Given the description of an element on the screen output the (x, y) to click on. 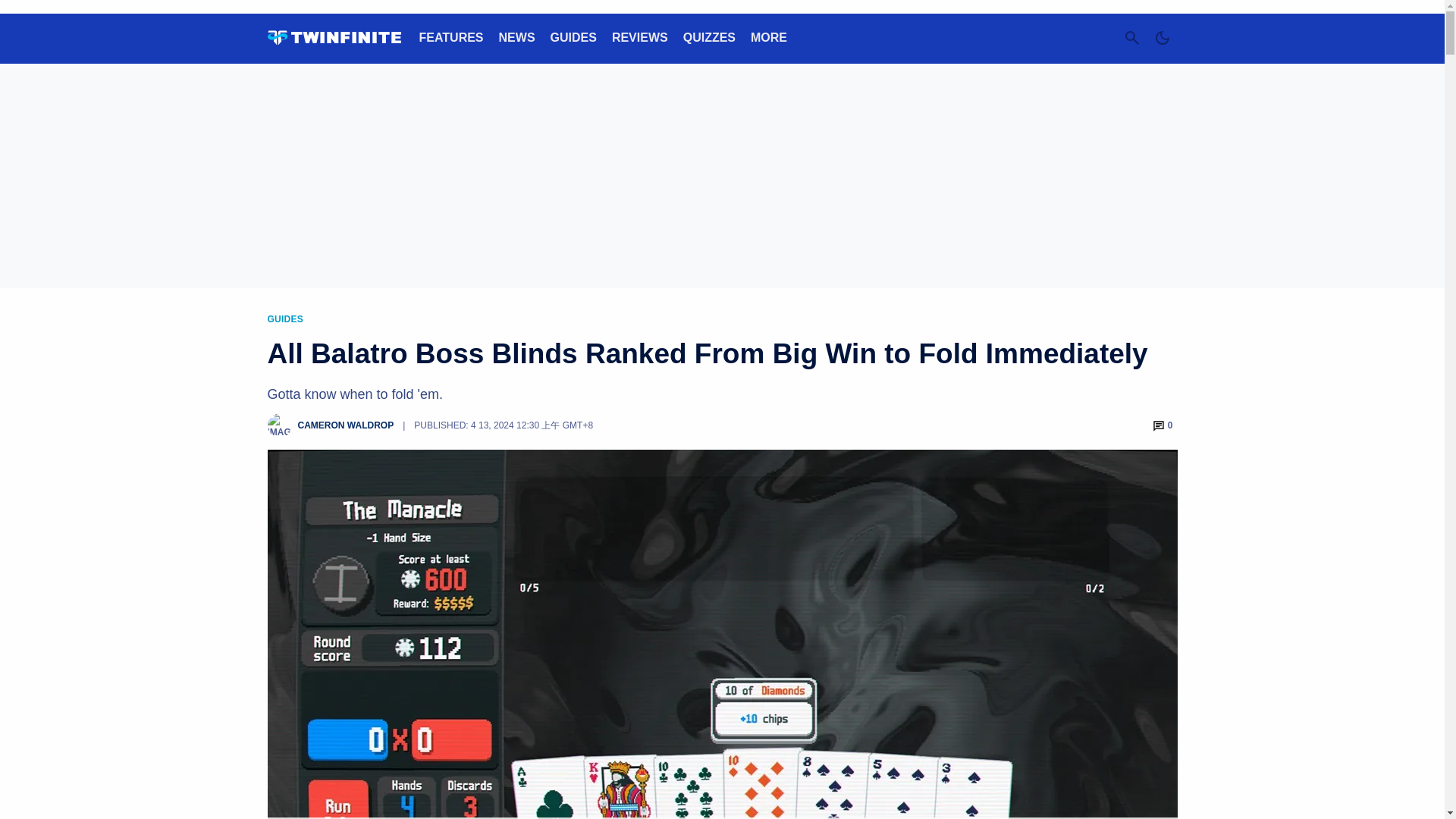
QUIZZES (708, 37)
NEWS (517, 37)
REVIEWS (639, 37)
Dark Mode (1161, 37)
FEATURES (451, 37)
Search (1131, 37)
GUIDES (573, 37)
